Given the description of an element on the screen output the (x, y) to click on. 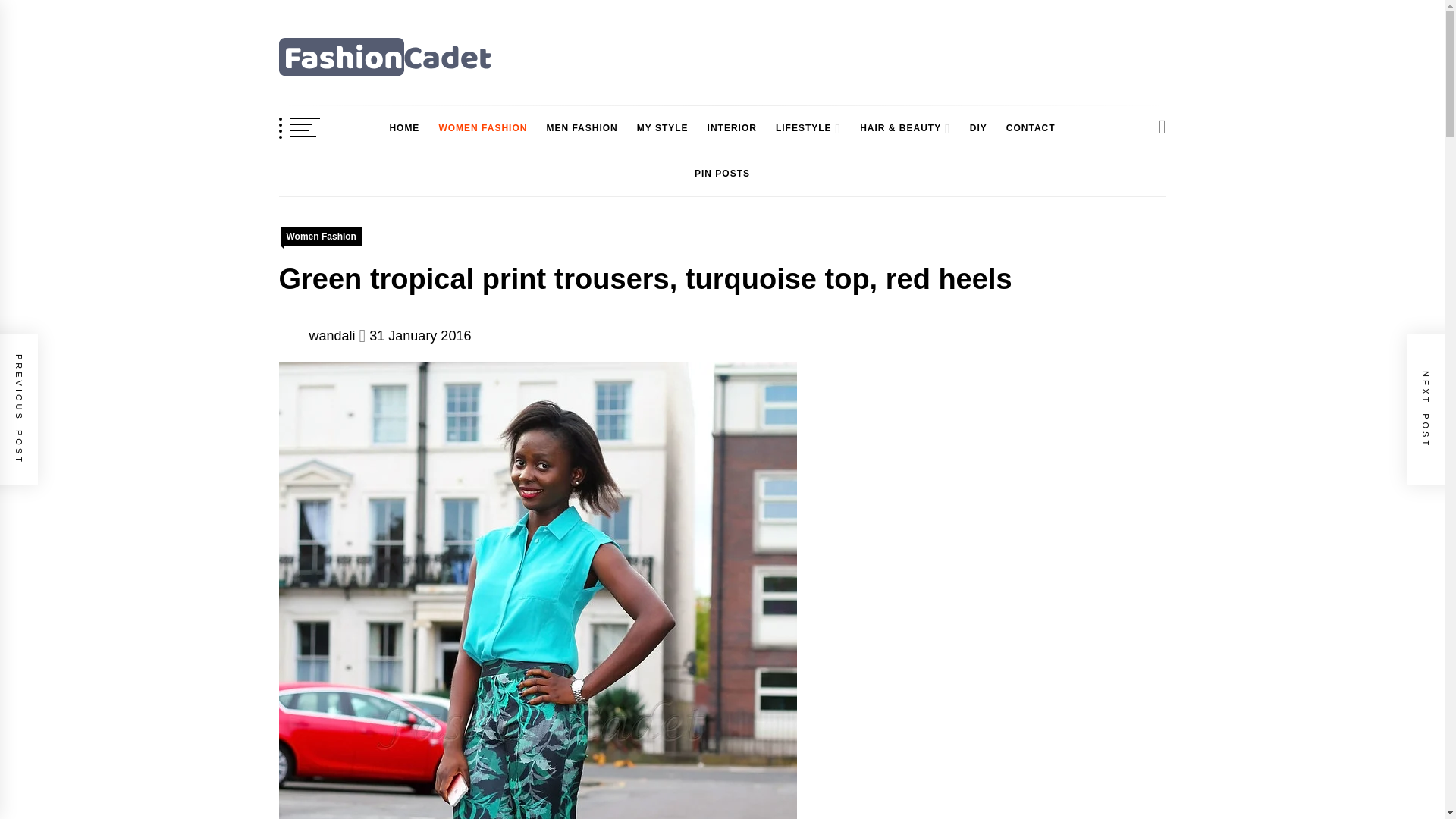
INTERIOR (732, 128)
31 January 2016 (419, 335)
MY STYLE (661, 128)
PIN POSTS (722, 173)
wandali (331, 335)
CONTACT (1030, 128)
Women Fashion (321, 236)
MEN FASHION (581, 128)
HOME (403, 128)
LIFESTYLE (799, 128)
Fashioncadet (362, 97)
WOMEN FASHION (482, 128)
